Given the description of an element on the screen output the (x, y) to click on. 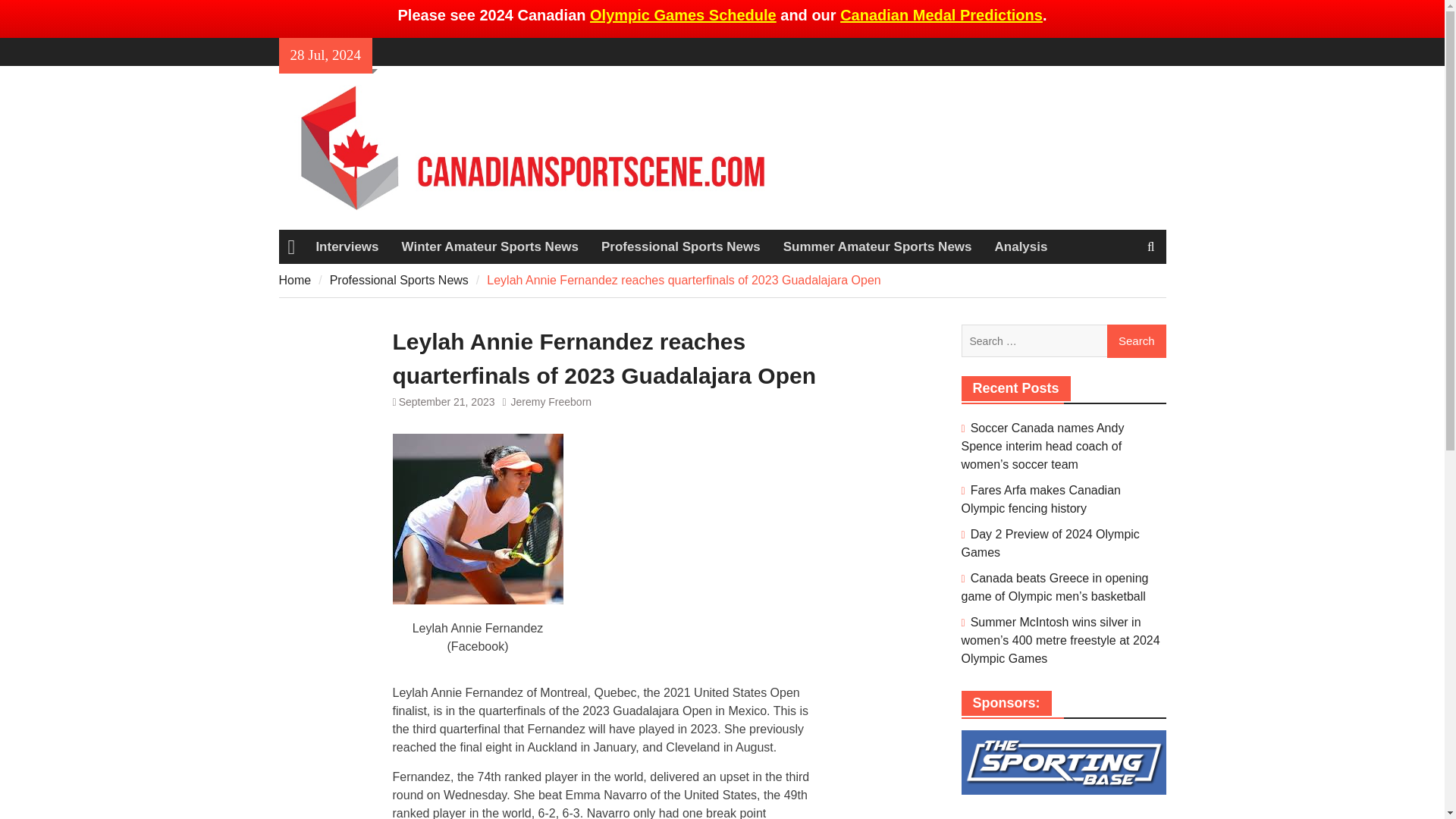
Analysis (1021, 247)
Interviews (347, 247)
September 21, 2023 (446, 401)
Search (1136, 340)
Fares Arfa makes Canadian Olympic fencing history (1040, 499)
Day 2 Preview of 2024 Olympic Games (1050, 542)
Summer Amateur Sports News (877, 247)
Canadian Medal Predictions (941, 14)
Winter Amateur Sports News (489, 247)
Professional Sports News (399, 279)
Home (291, 247)
Olympic Games Schedule (682, 14)
Search (1136, 340)
Professional Sports News (680, 247)
